Given the description of an element on the screen output the (x, y) to click on. 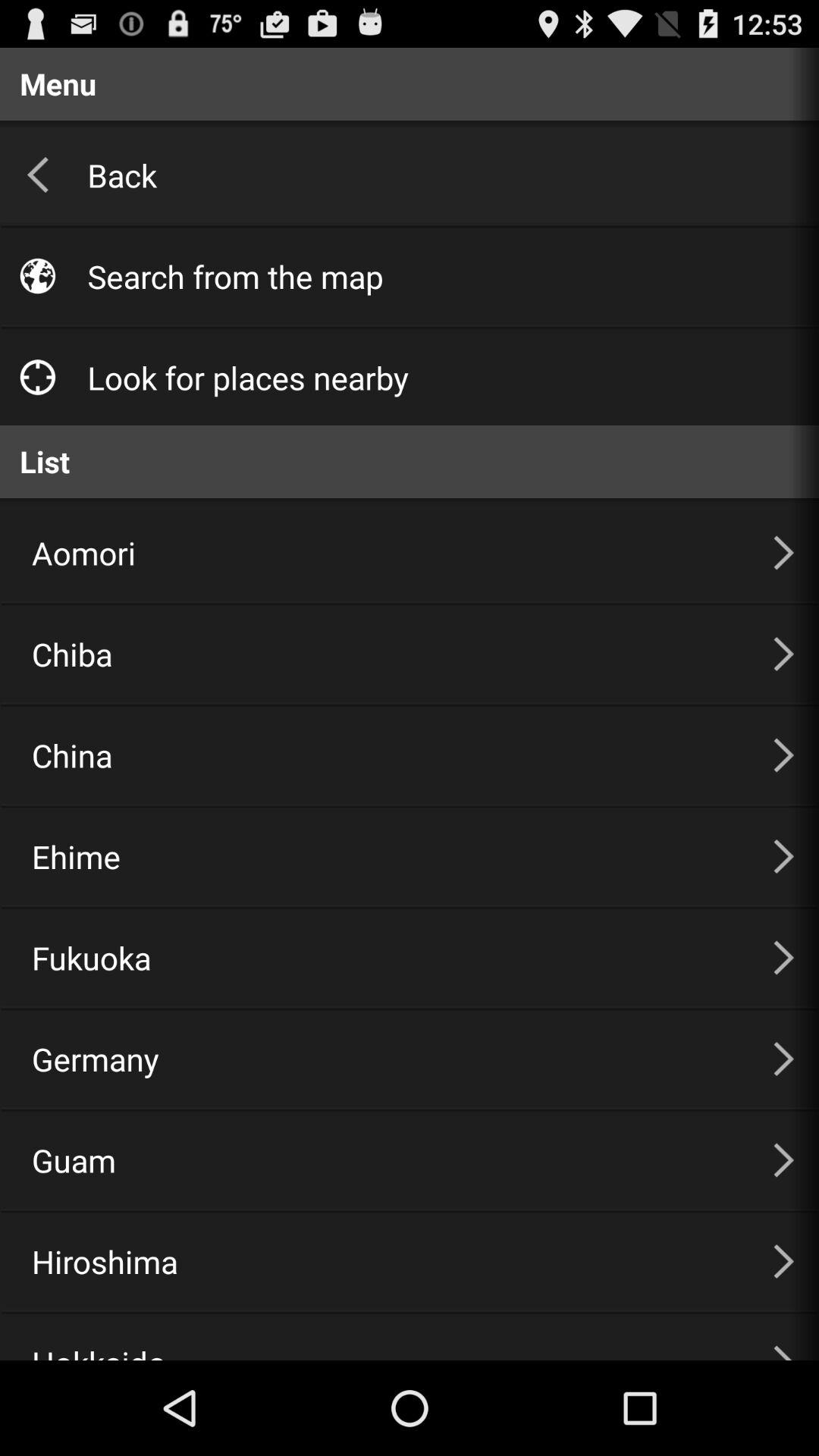
tap the next button beside hiroshima (784, 1261)
click on arrow which is left to the back (37, 174)
click on the arrow option beside germany (784, 1058)
go to the next button beside ehime (784, 856)
